Given the description of an element on the screen output the (x, y) to click on. 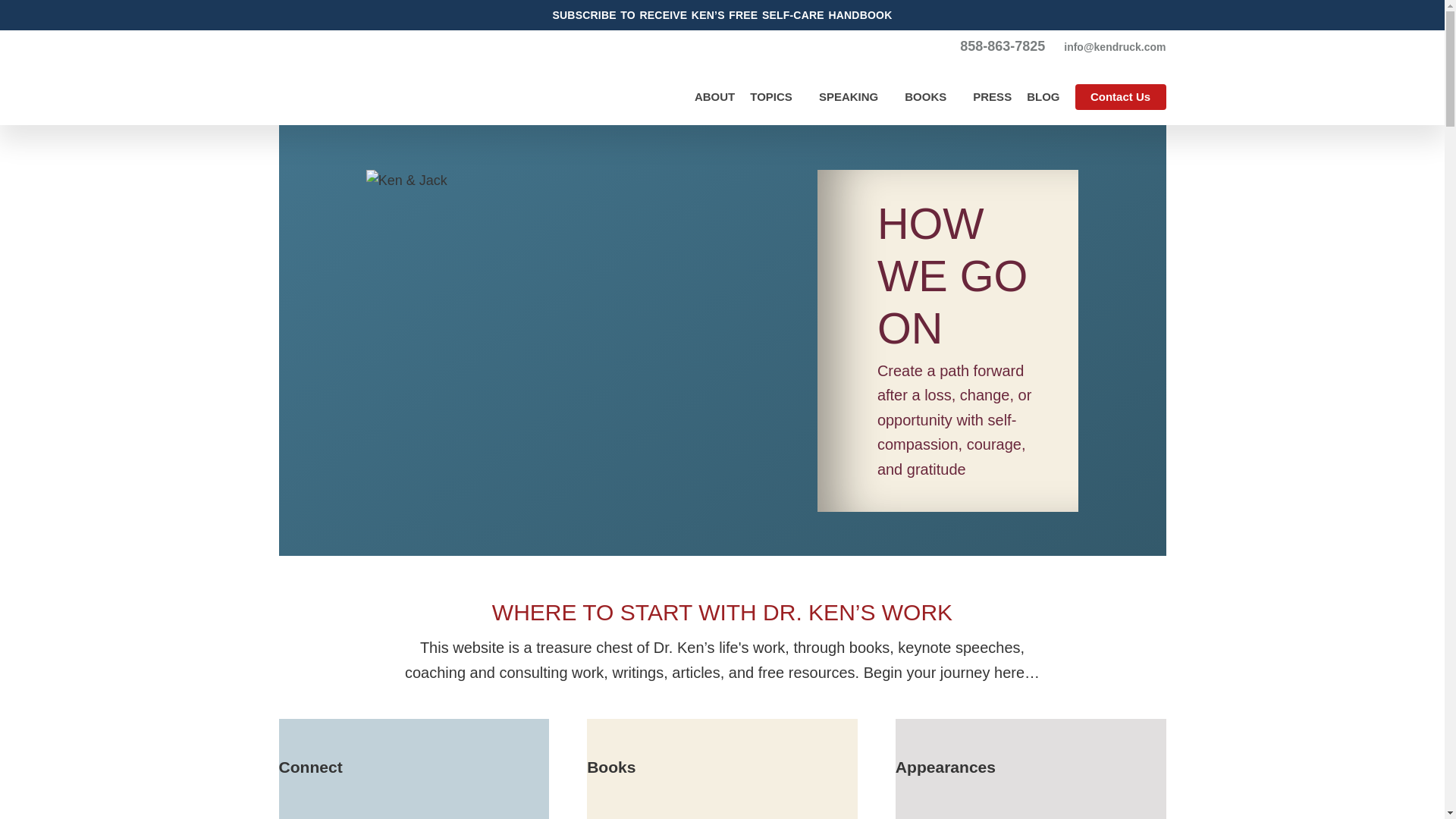
ABOUT (714, 95)
TOPICS (776, 97)
PRESS (991, 95)
BLOG (1042, 95)
How We Go On (722, 807)
BOOKS (931, 97)
SPEAKING (853, 97)
Contact Us (1120, 96)
DR KEN DRUCK (381, 77)
858-863-7825 (1002, 46)
